Given the description of an element on the screen output the (x, y) to click on. 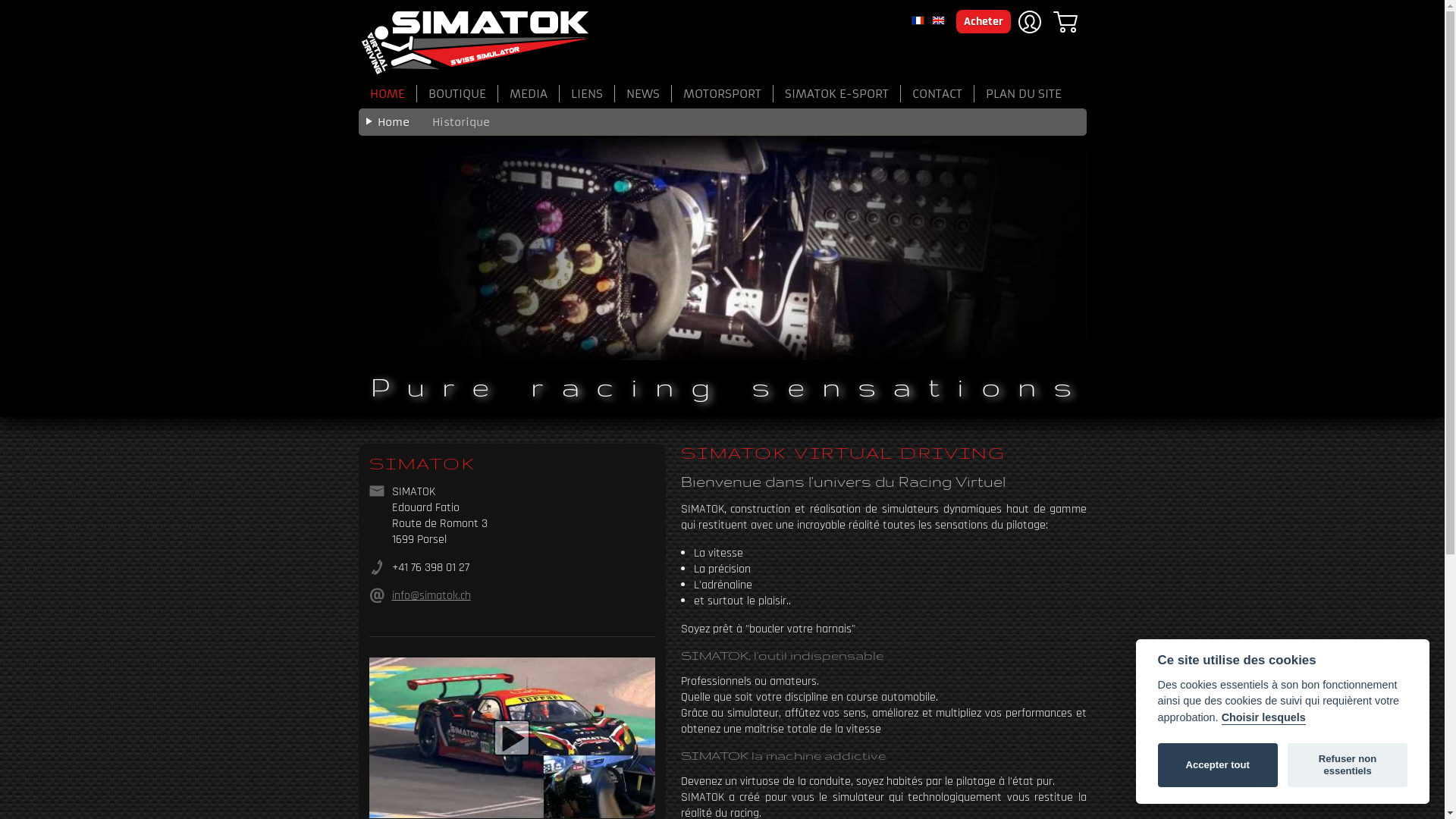
Refuser non essentiels Element type: text (1347, 765)
info@simatok.ch Element type: text (430, 595)
BOUTIQUE Element type: text (457, 93)
PLAN DU SITE Element type: text (1016, 93)
LIENS Element type: text (587, 93)
Acheter Element type: text (982, 21)
Accepter tout Element type: text (1217, 765)
MOTORSPORT Element type: text (722, 93)
HOME Element type: text (386, 93)
MEDIA Element type: text (527, 93)
NEWS Element type: text (642, 93)
CONTACT Element type: text (937, 93)
Home Element type: text (392, 121)
SIMATOK E-SPORT Element type: text (836, 93)
Choisir lesquels Element type: text (1263, 717)
Historique Element type: text (460, 121)
